Given the description of an element on the screen output the (x, y) to click on. 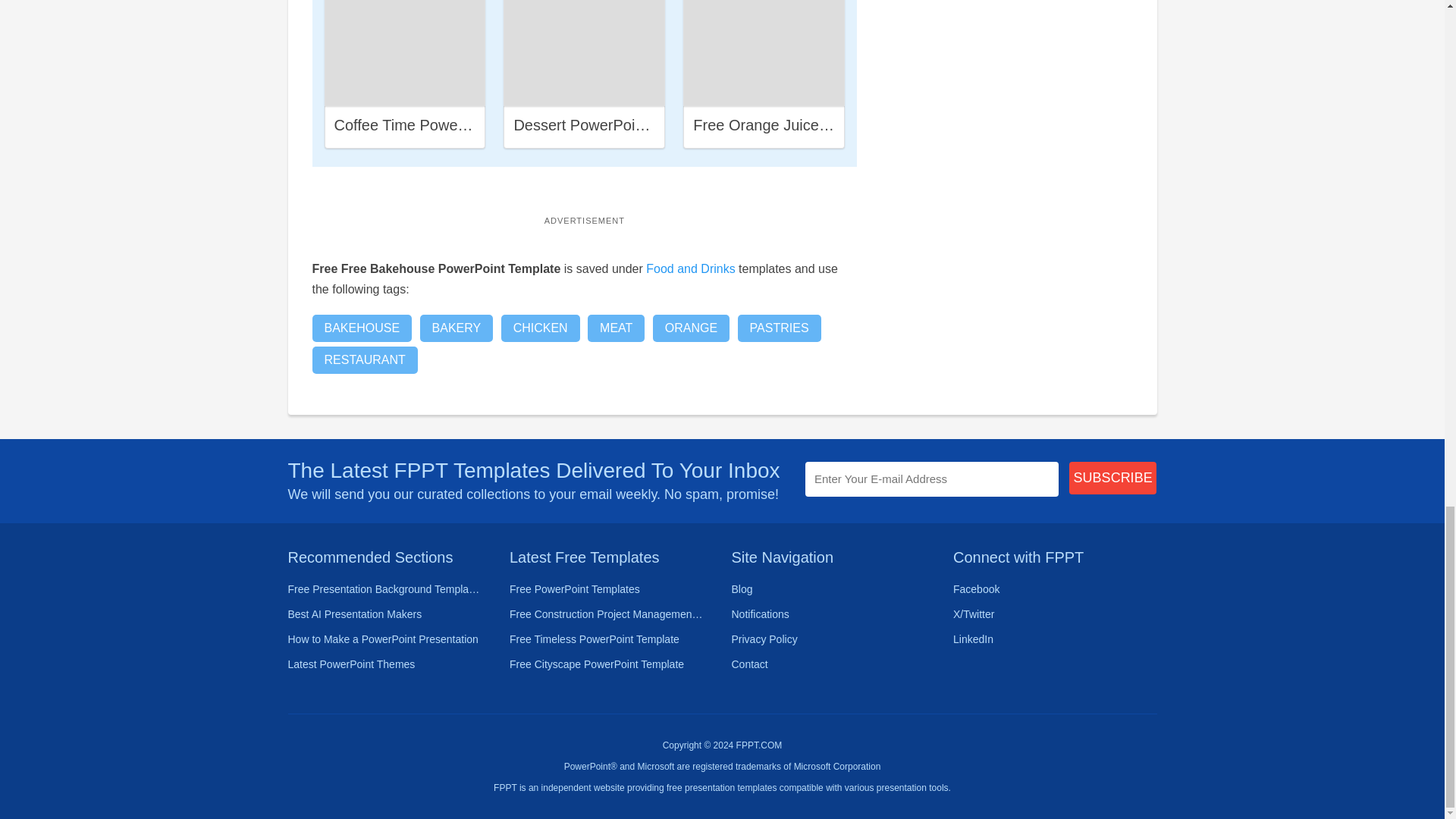
Free Orange Juice PowerPoint Template (763, 53)
Orange PowerPoint Template (764, 52)
Free Orange Juice PowerPoint Template (829, 125)
BAKEHOUSE (362, 328)
Coffee Time PowerPoint Template (405, 53)
CHICKEN (539, 328)
Coffee Time PowerPoint Template (447, 125)
Dessert PowerPoint Template (613, 125)
Subscribe (1112, 477)
MEAT (616, 328)
